Given the description of an element on the screen output the (x, y) to click on. 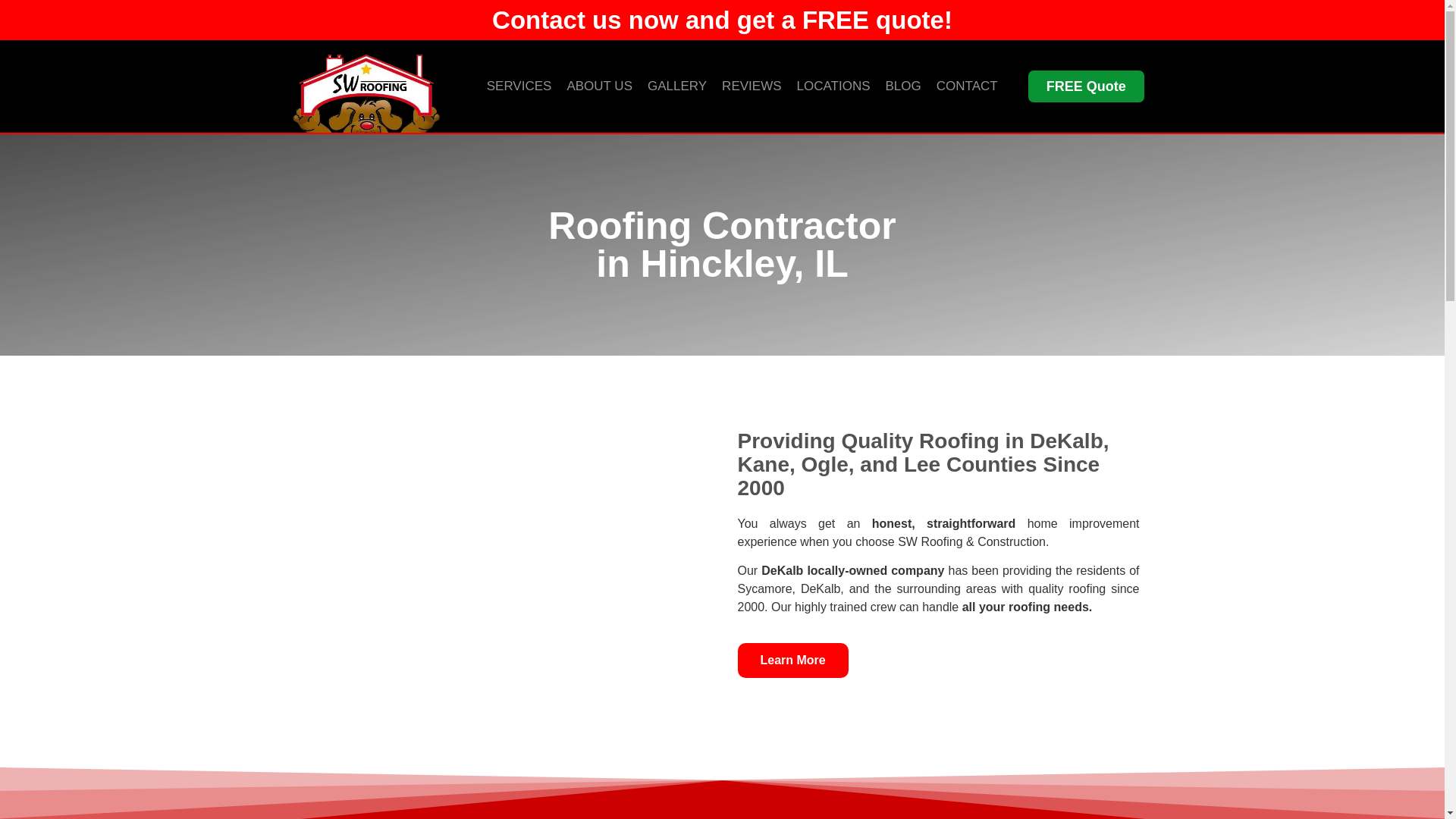
Contact us now and get a FREE quote! (722, 19)
BLOG (902, 85)
LOCATIONS (833, 85)
GALLERY (677, 85)
CONTACT (967, 85)
FREE Quote (1085, 86)
SERVICES (519, 85)
ABOUT US (599, 85)
REVIEWS (751, 85)
